Given the description of an element on the screen output the (x, y) to click on. 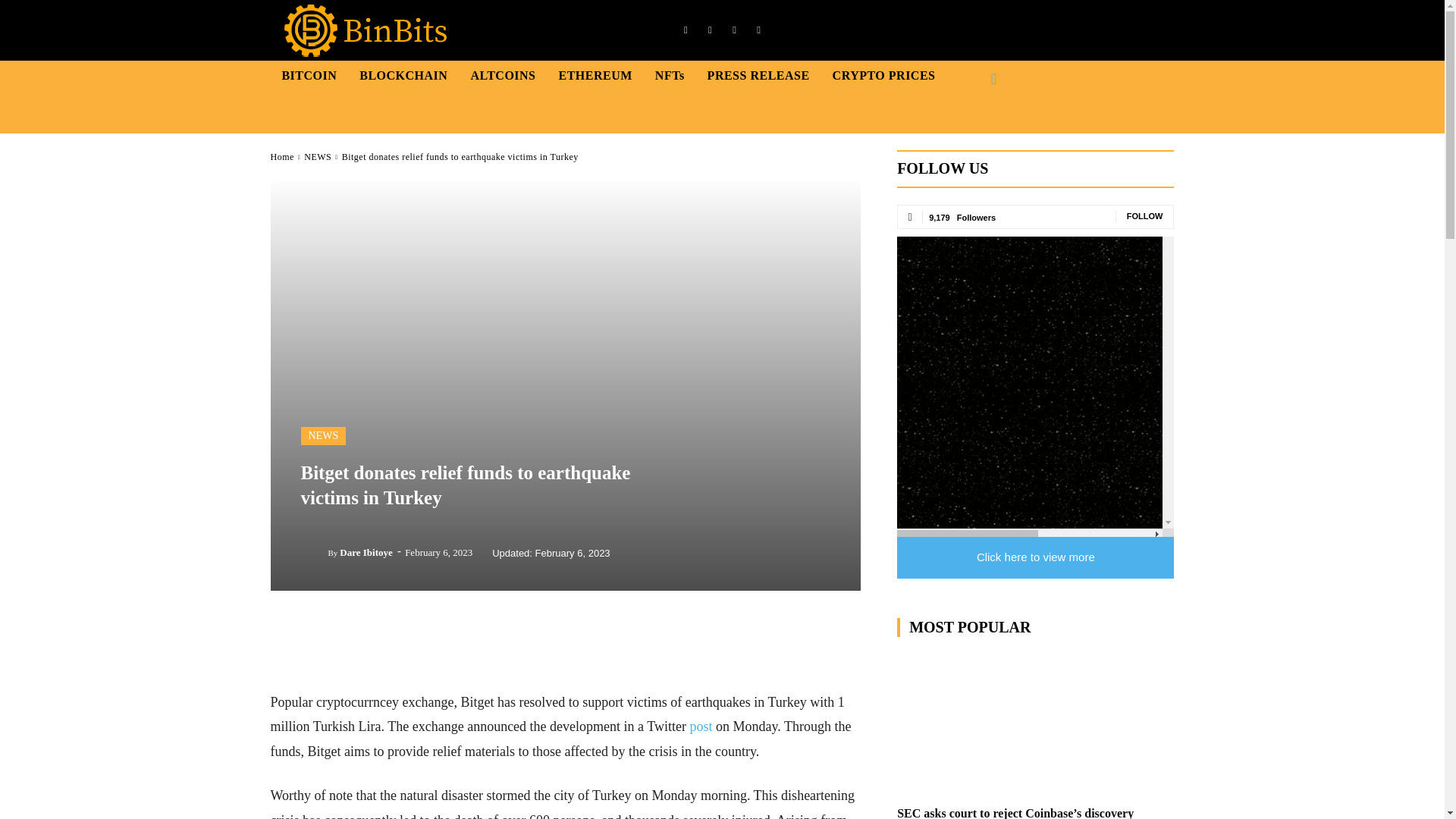
BITCOIN (309, 75)
FOLLOW (1144, 215)
Twitter (759, 30)
CRYPTO PRICES (883, 75)
ALTCOINS (501, 75)
Telegram (733, 30)
Facebook (685, 30)
NEWS (322, 435)
BLOCKCHAIN (403, 75)
ETHEREUM (595, 75)
Home (281, 156)
View all posts in NEWS (317, 156)
NFTs (669, 75)
Dare Ibitoye (365, 552)
Instagram (709, 30)
